Given the description of an element on the screen output the (x, y) to click on. 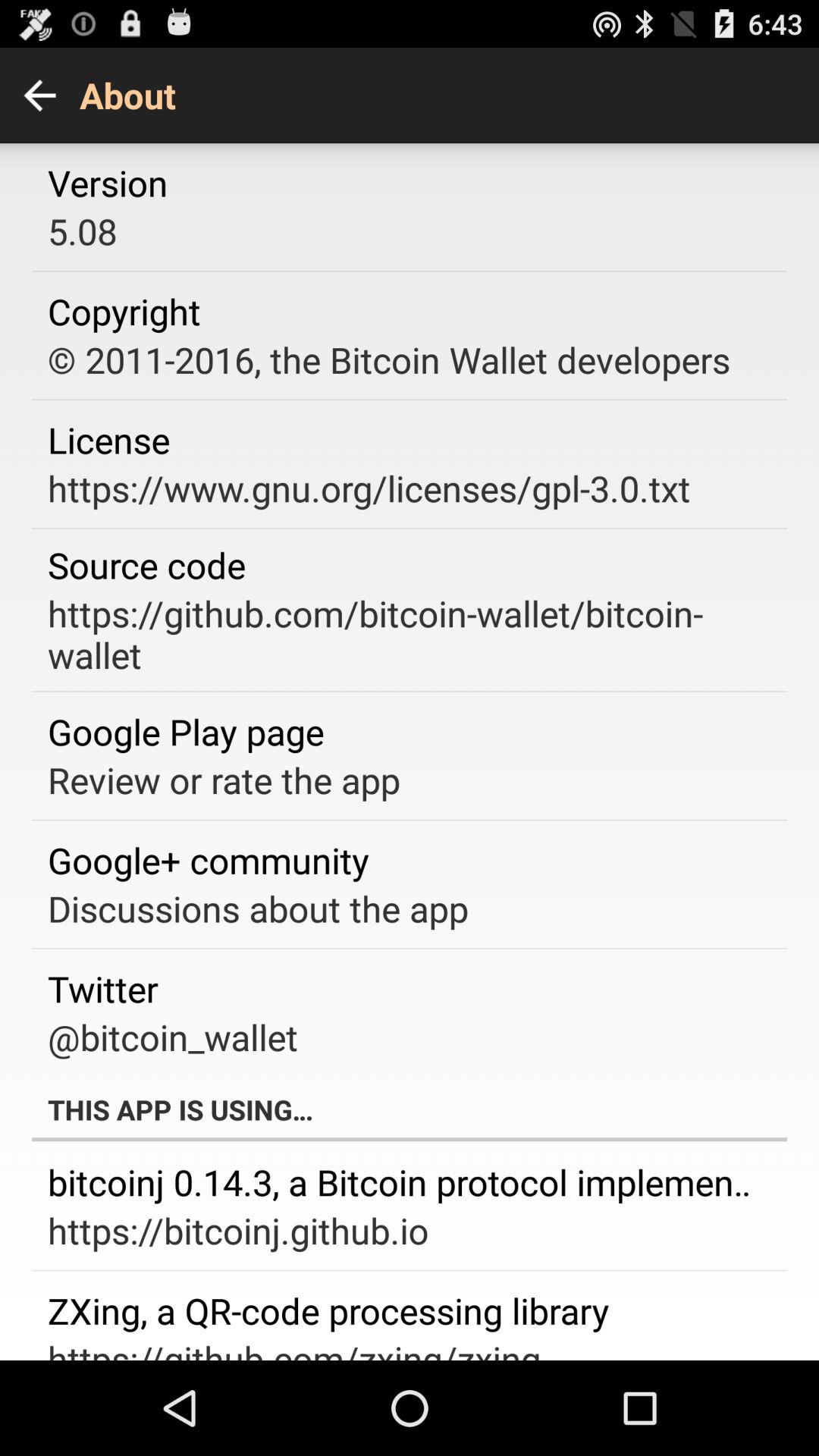
open the app above twitter app (257, 908)
